Given the description of an element on the screen output the (x, y) to click on. 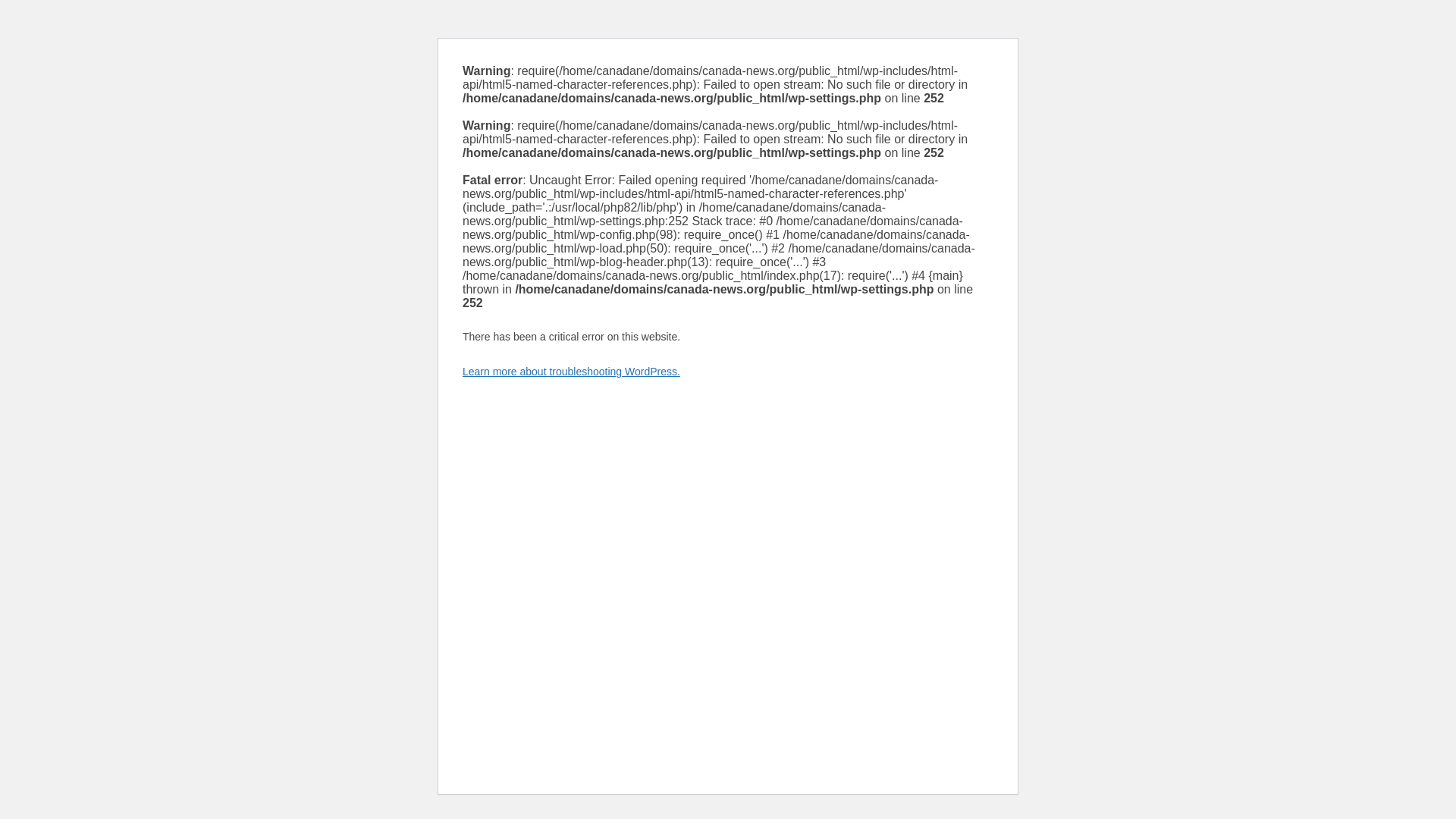
Learn more about troubleshooting WordPress. (571, 371)
